Given the description of an element on the screen output the (x, y) to click on. 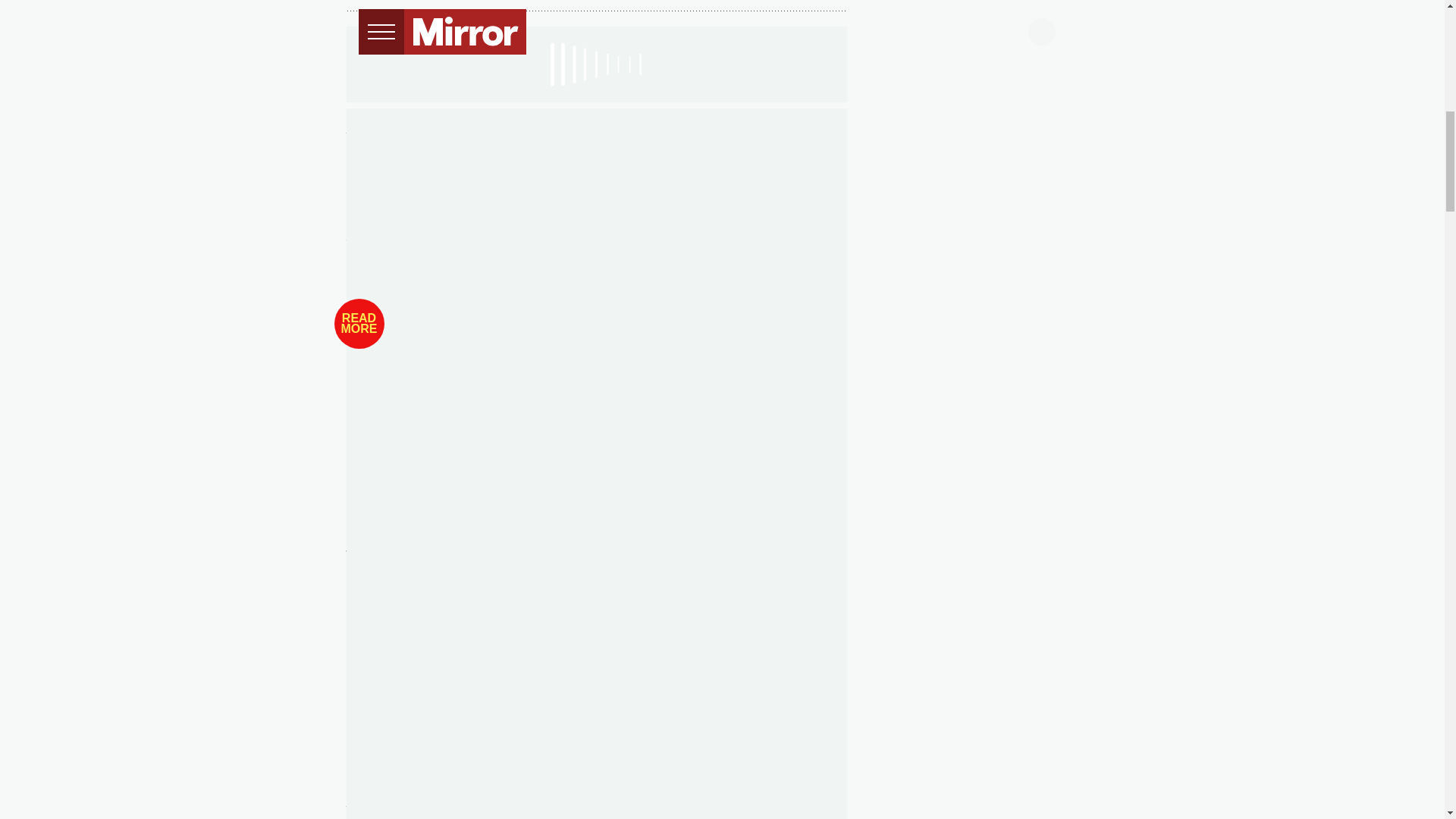
Everton (414, 162)
Arsenal (739, 162)
Nigeria international (510, 198)
Arsenal (414, 116)
Reiss Nelson (451, 134)
FA Cup (392, 216)
Alex Iwobi (496, 116)
